Given the description of an element on the screen output the (x, y) to click on. 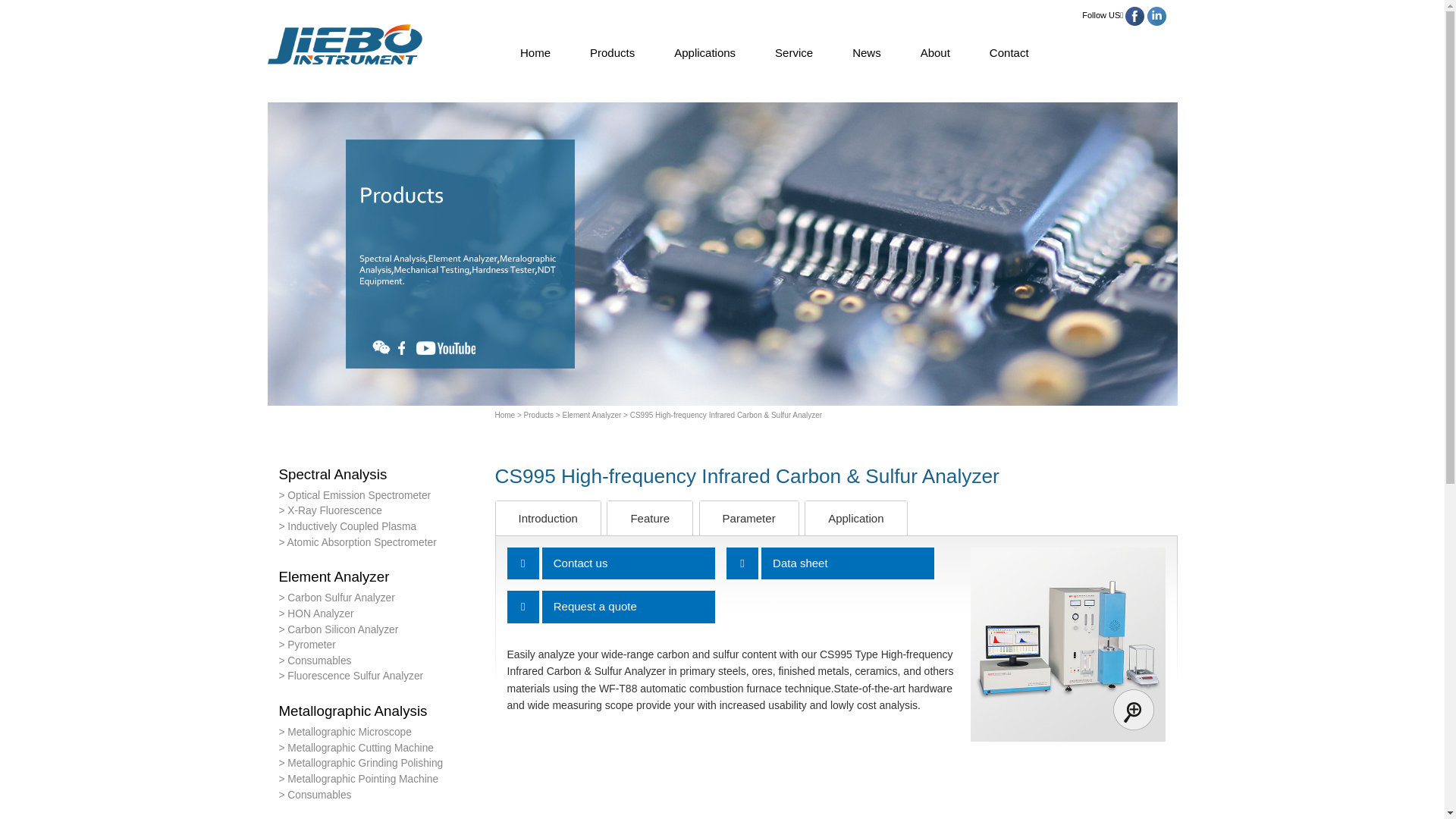
Introduction Element type: text (547, 518)
X-Ray Fluorescence Element type: text (381, 511)
Metallographic Analysis Element type: text (381, 710)
Inductively Coupled Plasma Element type: text (381, 527)
Element Analyzer Element type: text (381, 577)
Products Element type: text (533, 415)
Optical Emission Spectrometer Element type: text (381, 496)
Metallographic Grinding Polishing Element type: text (381, 763)
Home Element type: text (504, 415)
Atomic Absorption Spectrometer Element type: text (381, 543)
Feature Element type: text (649, 518)
CS995 High-frequency Infrared Carbon & Sulfur Analyzer Element type: hover (1067, 644)
Products Element type: text (612, 52)
Data sheet Element type: text (847, 563)
Pyrometer Element type: text (381, 645)
Metallographic Microscope Element type: text (381, 732)
HON Analyzer Element type: text (381, 614)
Metallographic Cutting Machine Element type: text (381, 748)
Consumables Element type: text (381, 661)
Parameter Element type: text (748, 518)
Application Element type: text (855, 518)
Service Element type: text (793, 52)
Consumables Element type: text (381, 795)
Fluorescence Sulfur Analyzer Element type: text (381, 676)
Home Element type: text (535, 52)
About Element type: text (934, 52)
Contact Element type: text (1008, 52)
Request a quote Element type: text (628, 606)
News Element type: text (866, 52)
Carbon Silicon Analyzer Element type: text (381, 629)
Spectral Analysis Element type: text (381, 474)
Metallographic Pointing Machine Element type: text (381, 779)
Applications Element type: text (704, 52)
CS995 High-frequency Infrared Carbon & Sulfur Analyzer Element type: text (721, 415)
Carbon Sulfur Analyzer Element type: text (381, 598)
Contact us Element type: text (628, 563)
Element Analyzer Element type: text (587, 415)
